Given the description of an element on the screen output the (x, y) to click on. 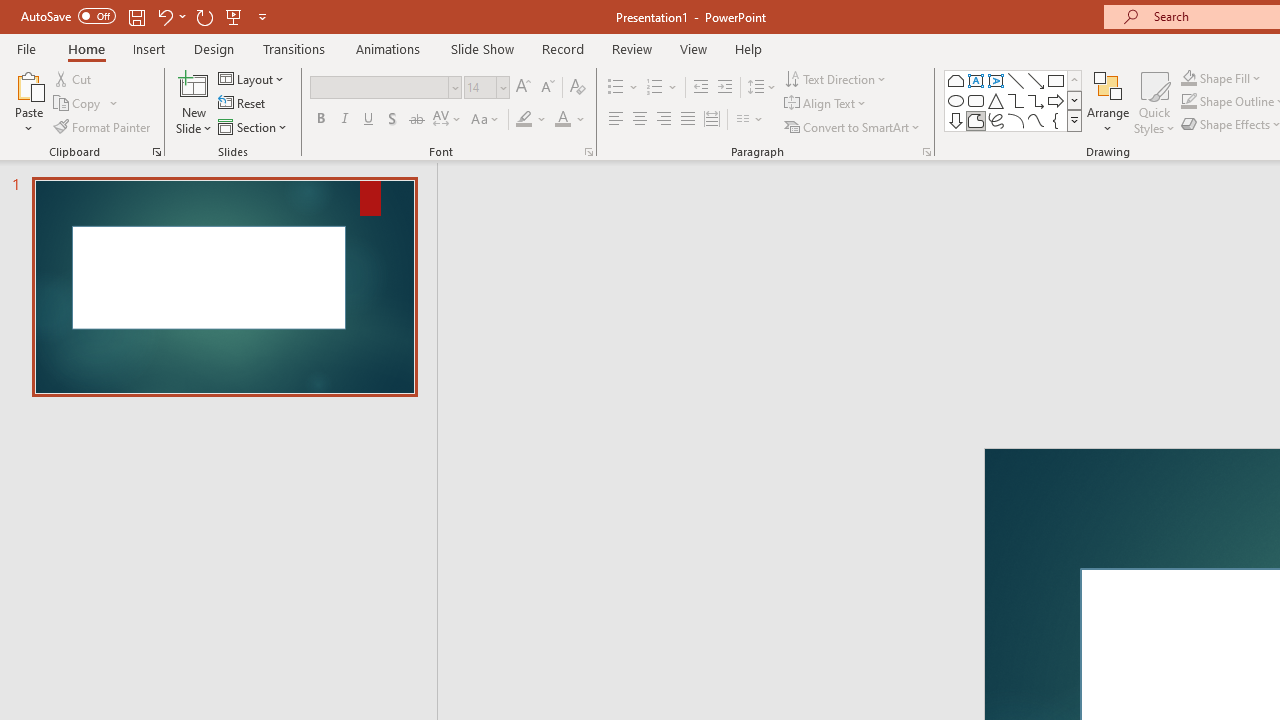
Strikethrough (416, 119)
Line (1016, 80)
Character Spacing (447, 119)
Row up (1074, 79)
Text Box (975, 80)
Shape Outline Blue, Accent 1 (1188, 101)
Quick Styles (1154, 102)
Arc (1016, 120)
Font Color (569, 119)
